Given the description of an element on the screen output the (x, y) to click on. 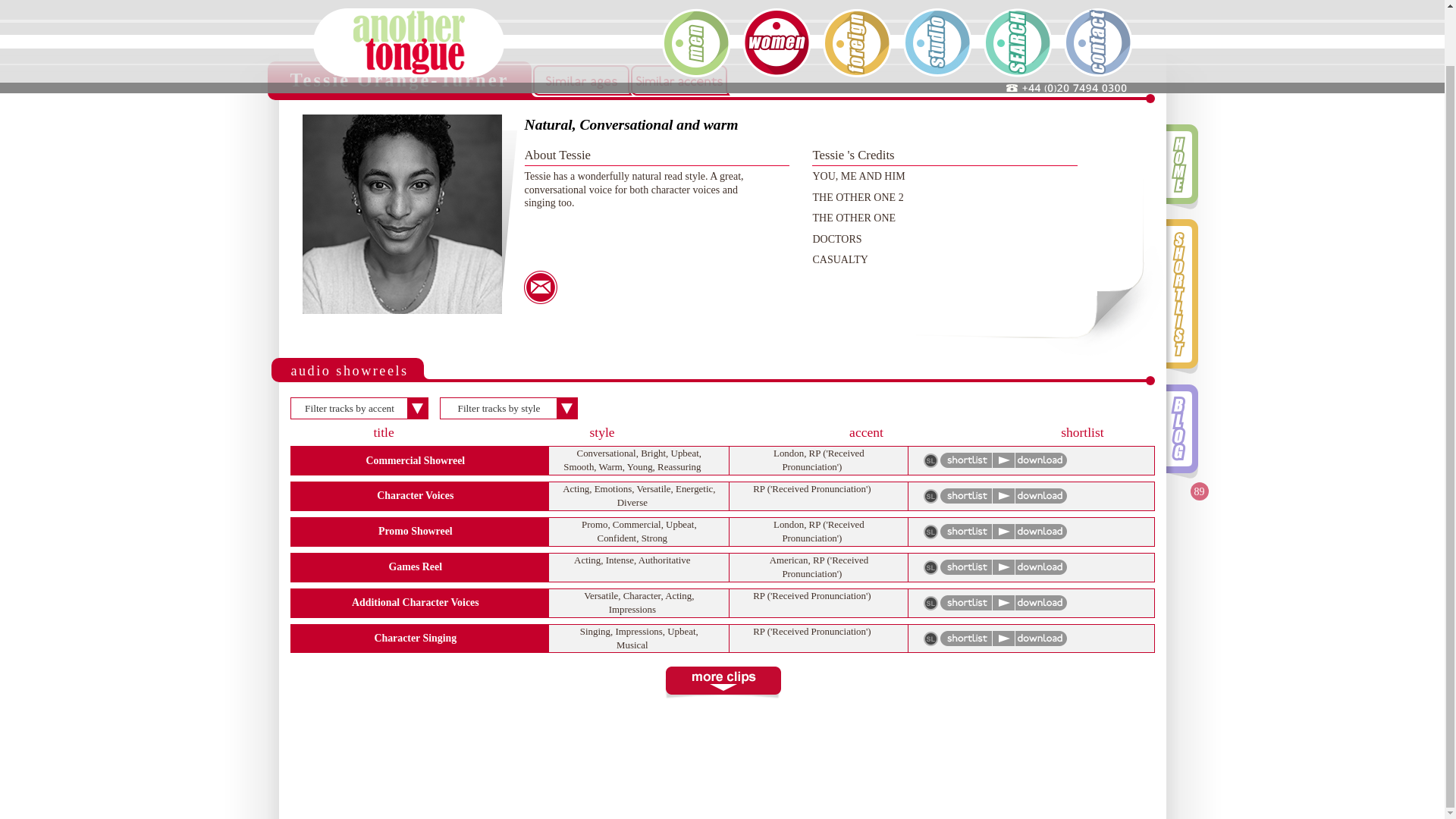
Similar Ages (580, 80)
Similar Accents (678, 80)
